Given the description of an element on the screen output the (x, y) to click on. 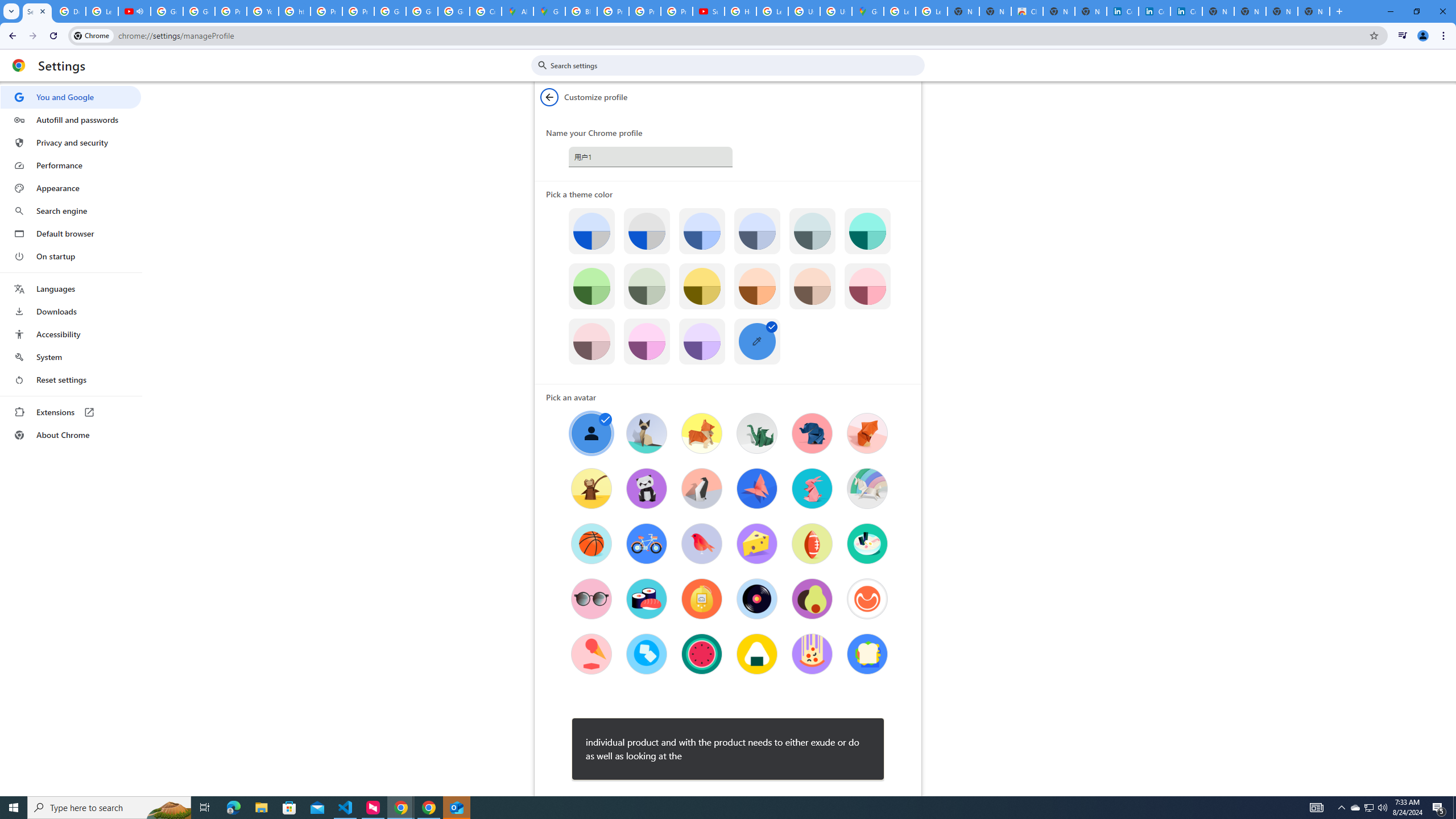
Google Maps (868, 11)
Subscriptions - YouTube (708, 11)
Settings - Customize profile (37, 11)
Languages (70, 288)
Privacy Help Center - Policies Help (613, 11)
Performance (70, 164)
On startup (70, 255)
Privacy Help Center - Policies Help (230, 11)
Search settings (735, 65)
